Given the description of an element on the screen output the (x, y) to click on. 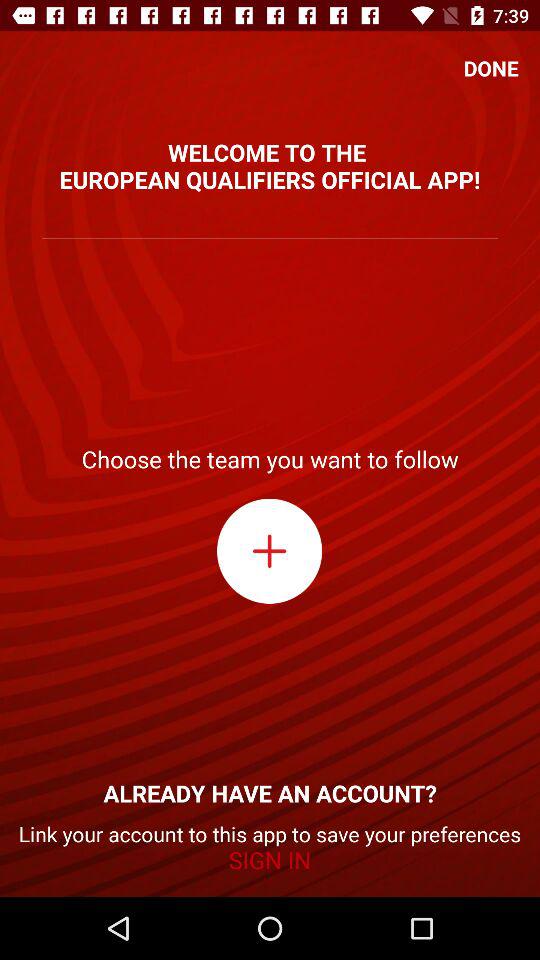
jump to the link your account (269, 847)
